Given the description of an element on the screen output the (x, y) to click on. 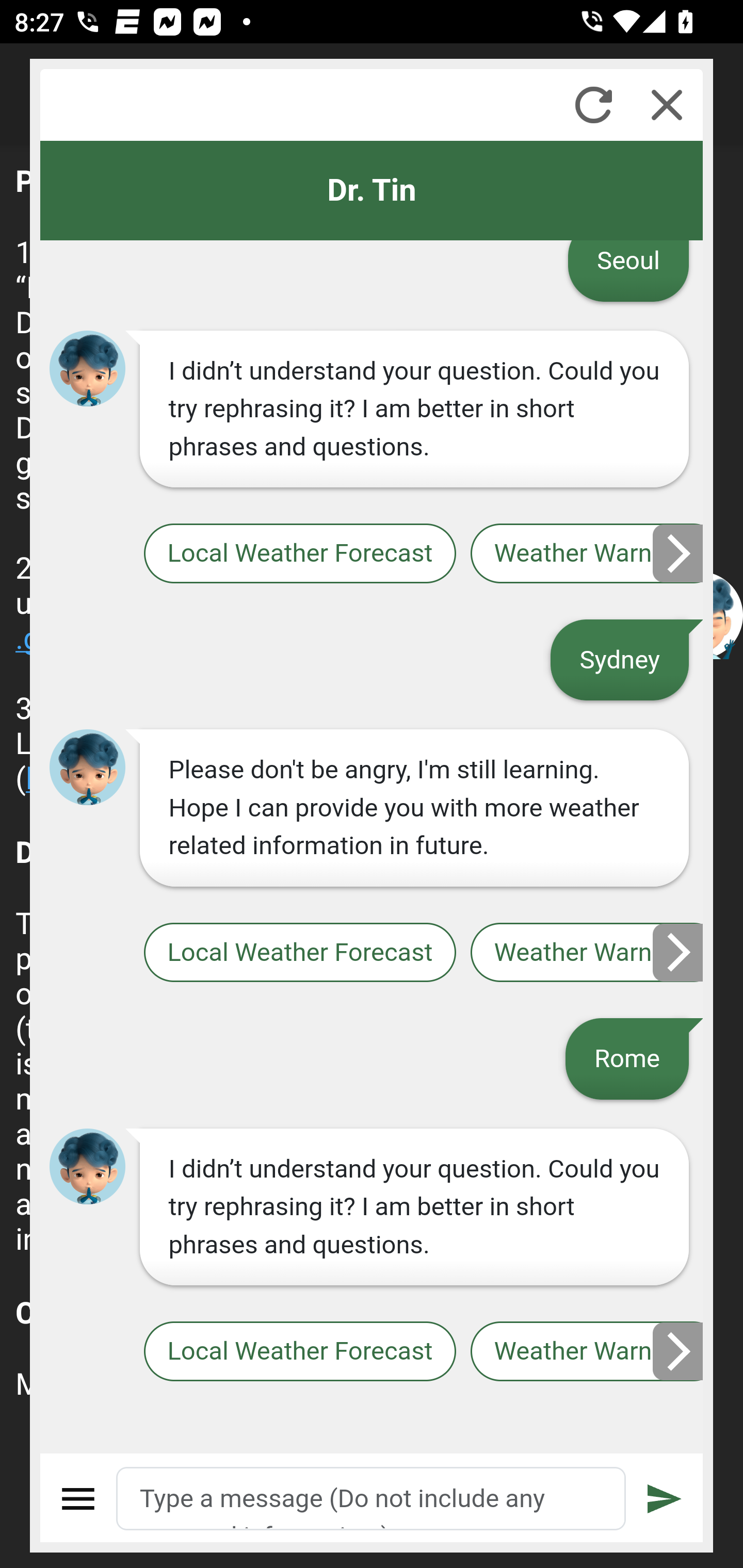
Refresh (593, 104)
Close (666, 104)
Local Weather Forecast (299, 553)
Weather Warnings (587, 553)
Next slide (678, 553)
Local Weather Forecast (299, 951)
Weather Warnings (587, 951)
Next slide (678, 951)
Local Weather Forecast (299, 1351)
Weather Warnings (587, 1351)
Next slide (678, 1351)
Menu (78, 1498)
Submit (665, 1498)
